Given the description of an element on the screen output the (x, y) to click on. 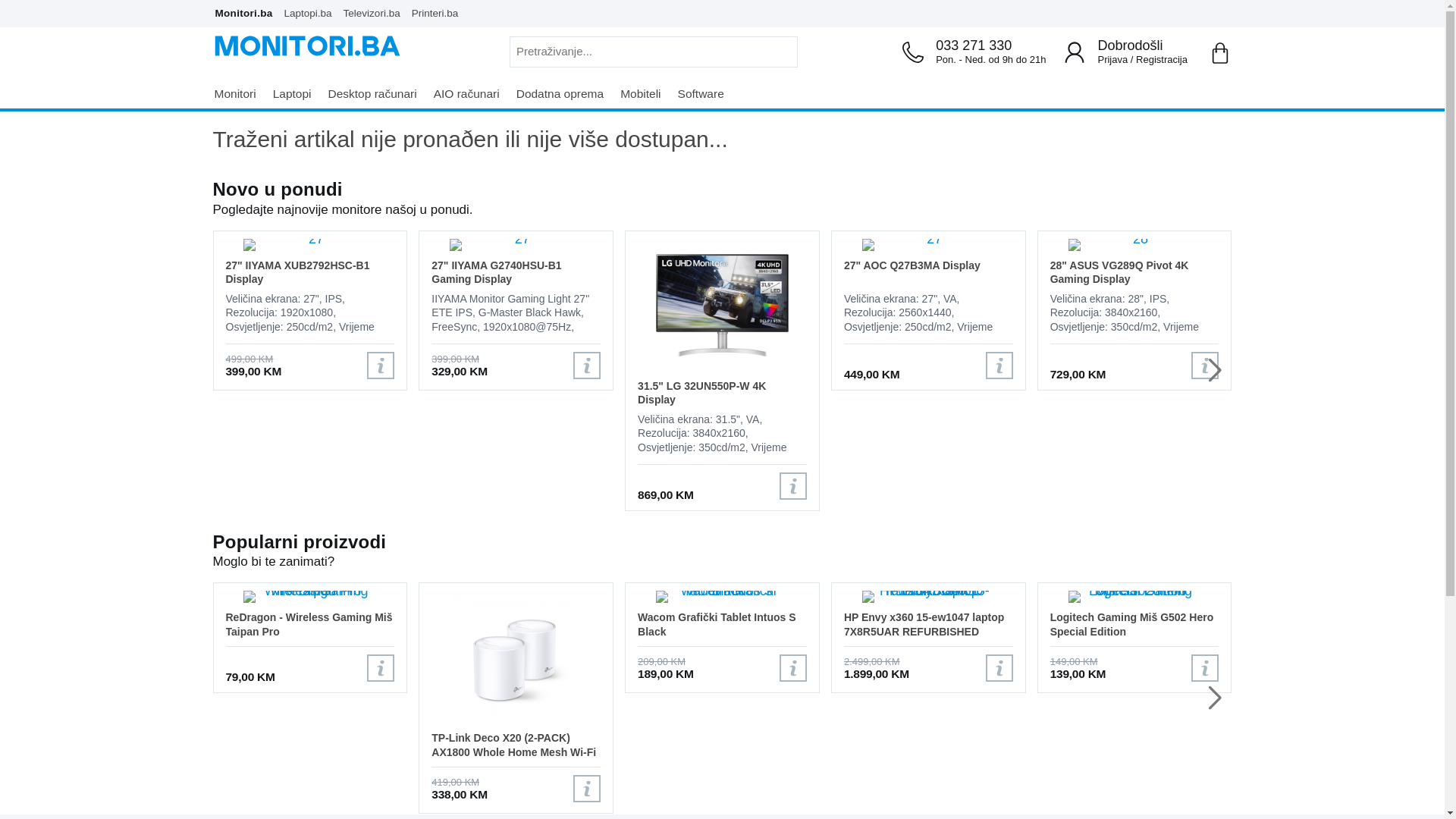
Monitori Element type: text (241, 93)
Laptopi.ba Element type: text (311, 10)
27" IIYAMA XUB2792HSC-B1 Display Element type: text (310, 271)
Monitori.ba Element type: text (246, 10)
28" ASUS VG289Q Pivot 4K Gaming Display Element type: text (1134, 271)
Software Element type: text (707, 93)
Telefonske narudzbe Element type: hover (912, 51)
Laptopi Element type: text (298, 93)
Printeri.ba Element type: text (438, 10)
Prijava Element type: text (1112, 59)
Televizori.ba Element type: text (375, 10)
Prijava ili registracija Element type: hover (1074, 51)
Mobiteli Element type: text (646, 93)
27" IIYAMA G2740HSU-B1 Gaming Display Element type: text (515, 271)
Registracija Element type: text (1161, 59)
HP Envy x360 15-ew1047 laptop 7X8R5UAR REFURBISHED Element type: text (928, 624)
31.5" LG 32UN550P-W 4K Display Element type: text (721, 393)
monitori.ba Element type: hover (306, 45)
27" AOC Q27B3MA Display Element type: text (928, 271)
033 271 330 Element type: text (990, 45)
Dodatna oprema Element type: text (566, 93)
